Given the description of an element on the screen output the (x, y) to click on. 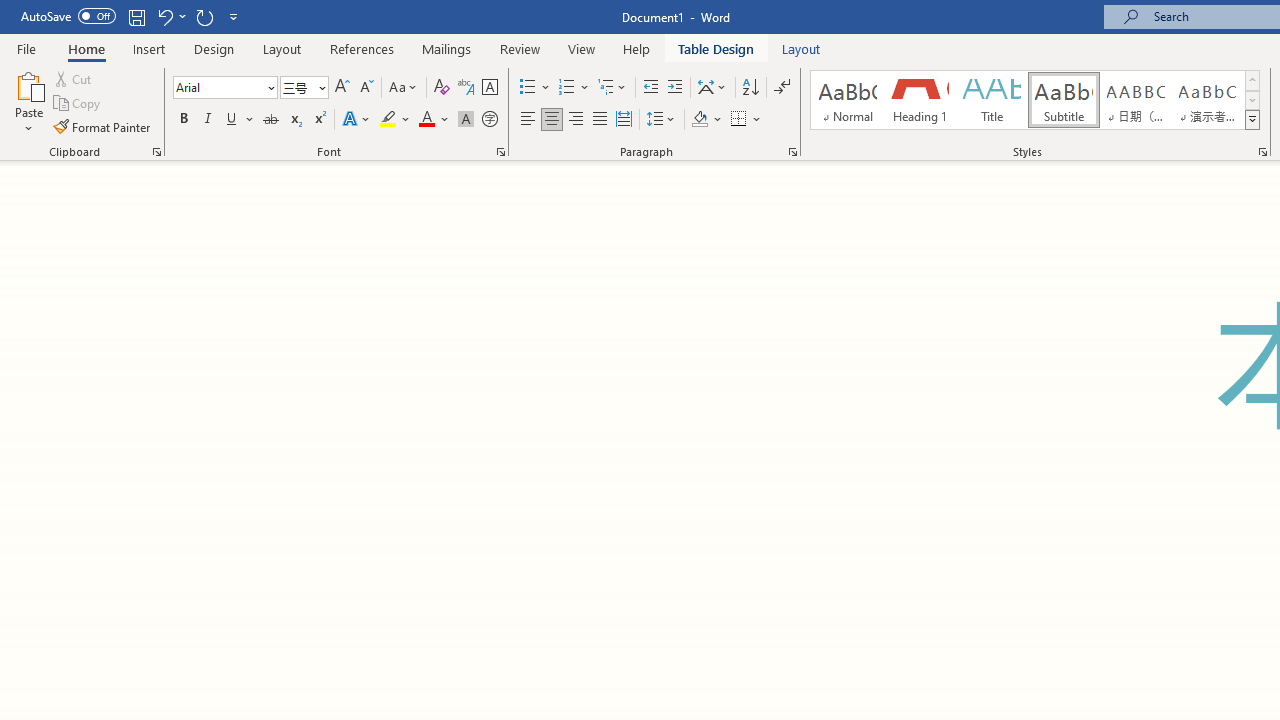
Phonetic Guide... (465, 87)
Character Border (489, 87)
Bold (183, 119)
Text Effects and Typography (357, 119)
Justify (599, 119)
Cut (73, 78)
Change Case (404, 87)
Sort... (750, 87)
Text Highlight Color (395, 119)
Title (991, 100)
